Given the description of an element on the screen output the (x, y) to click on. 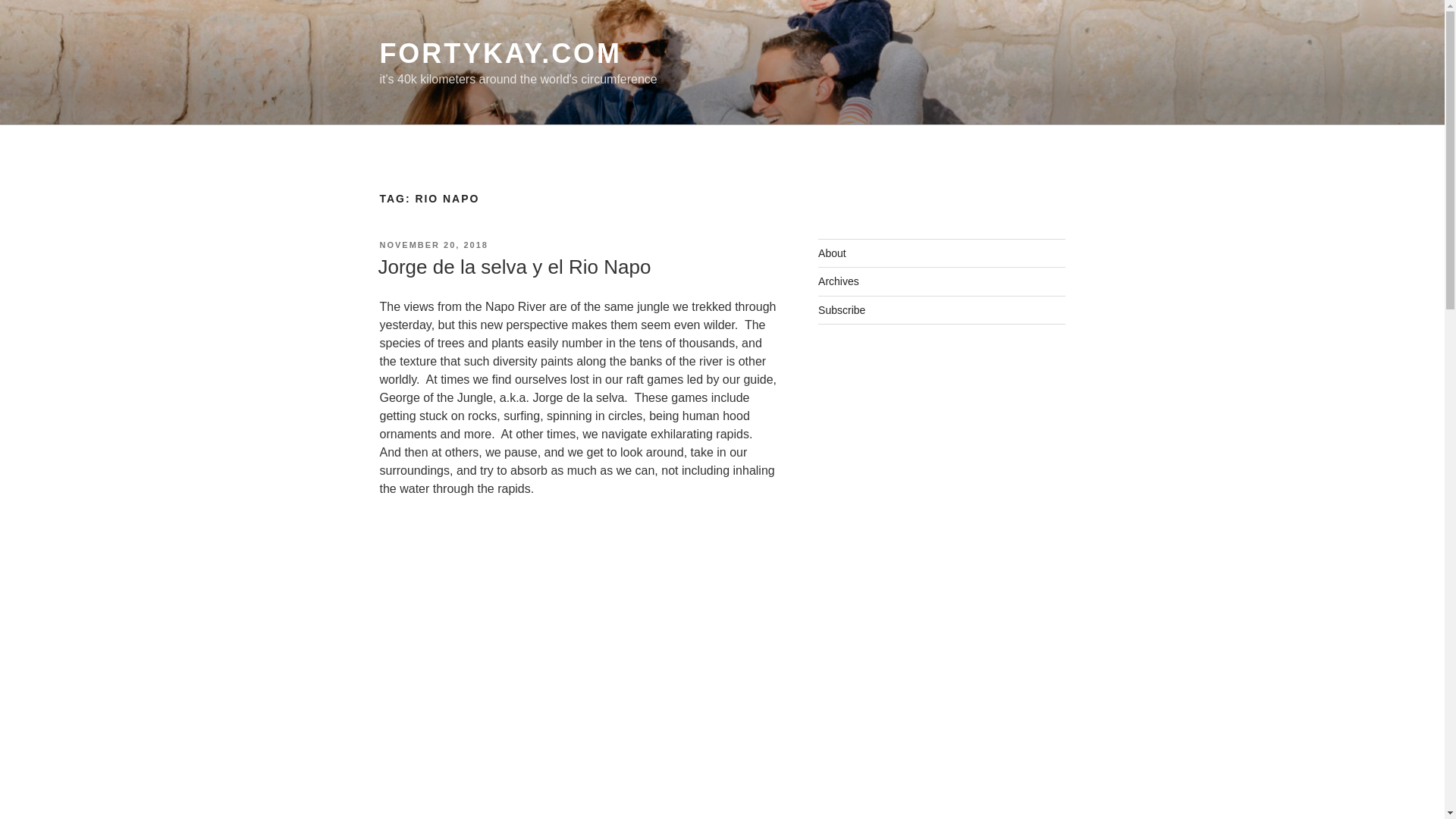
Jorge de la selva y el Rio Napo (513, 266)
FORTYKAY.COM (499, 52)
About (831, 253)
NOVEMBER 20, 2018 (432, 244)
Archives (838, 281)
Subscribe (841, 309)
